Given the description of an element on the screen output the (x, y) to click on. 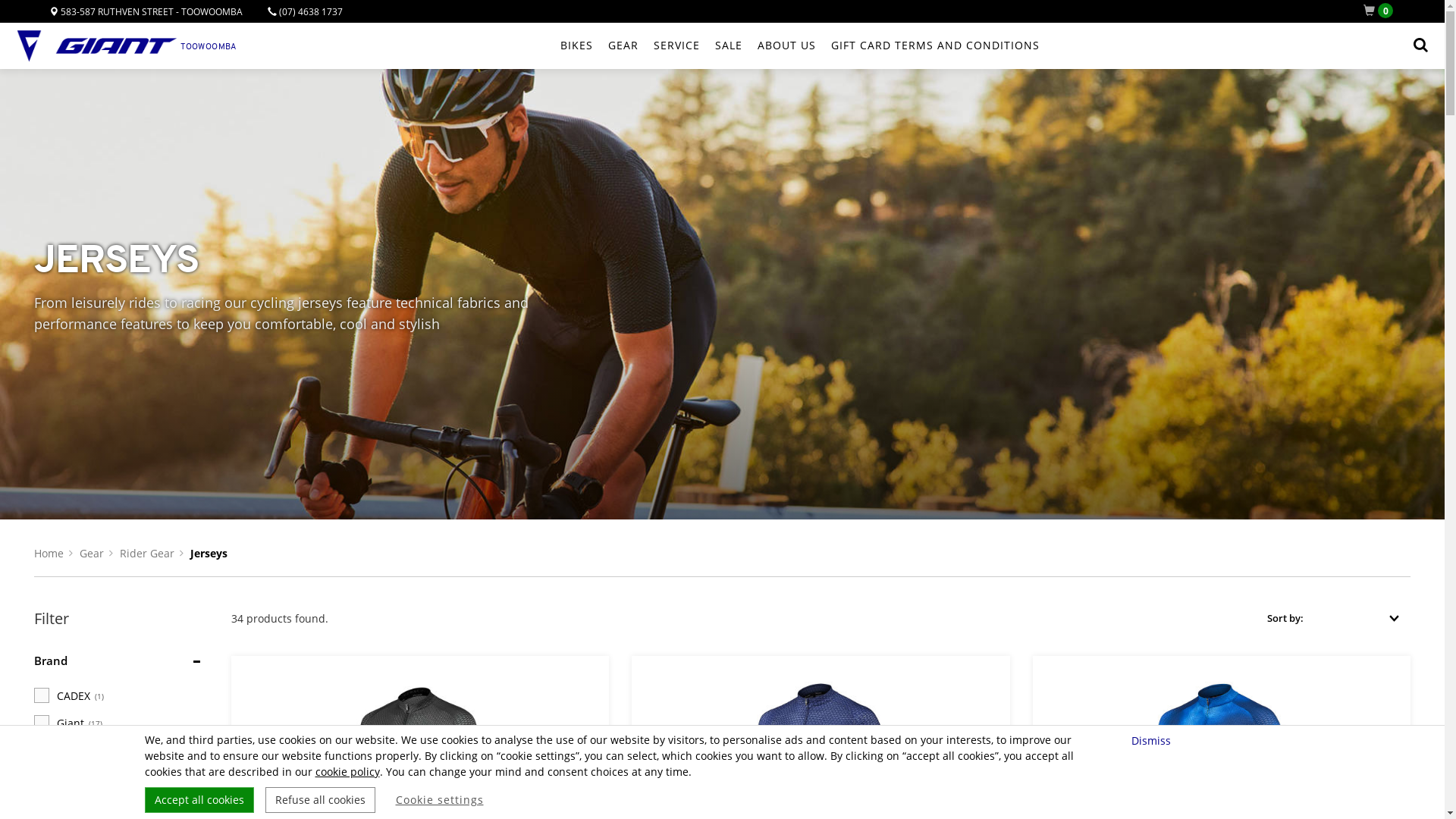
SALE Element type: text (728, 45)
SERVICE Element type: text (676, 45)
Refuse all cookies Element type: text (320, 799)
cookie policy Element type: text (347, 771)
Cookie settings Element type: text (439, 799)
Dismiss Element type: text (1152, 740)
GIFT CARD TERMS AND CONDITIONS Element type: text (935, 45)
GEAR Element type: text (623, 45)
Rider Gear Element type: text (146, 553)
ABOUT US Element type: text (786, 45)
Bike Category Element type: text (72, 789)
Home Element type: text (48, 553)
0 item(s) in cart
0
Total amount Element type: text (1381, 10)
Brand Element type: text (50, 660)
BIKES Element type: text (576, 45)
Accept all cookies Element type: text (198, 799)
Gear Element type: text (91, 553)
